Given the description of an element on the screen output the (x, y) to click on. 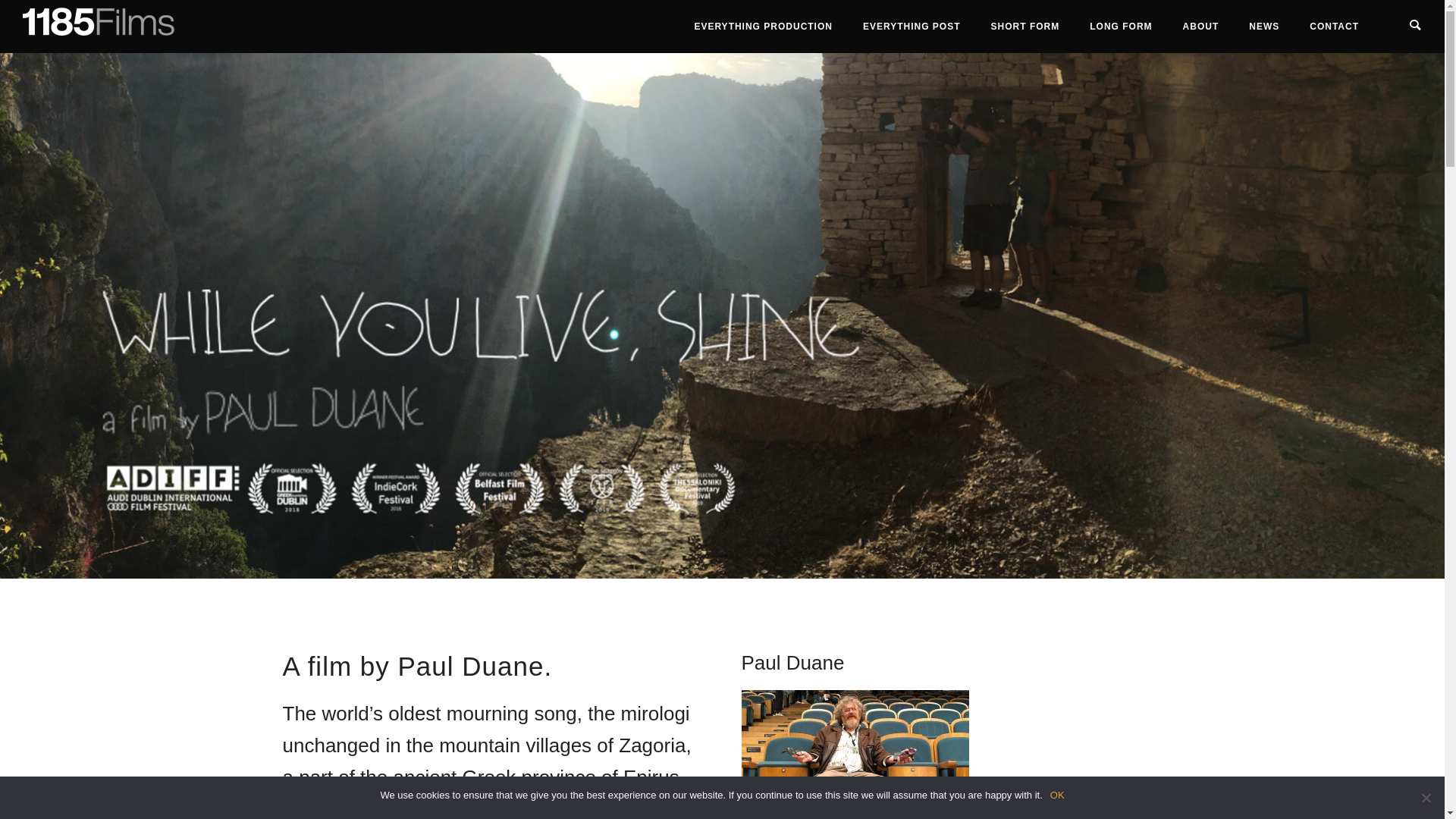
LONG FORM Element type: text (1120, 26)
NEWS Element type: text (1263, 26)
OK Element type: text (1057, 795)
EVERYTHING PRODUCTION Element type: text (762, 26)
No Element type: hover (1425, 797)
EVERYTHING POST Element type: text (911, 26)
CONTACT Element type: text (1334, 26)
SHORT FORM Element type: text (1025, 26)
mountain-view-while-you-live-shine-cameraman Element type: hover (722, 314)
ABOUT Element type: text (1200, 26)
